Given the description of an element on the screen output the (x, y) to click on. 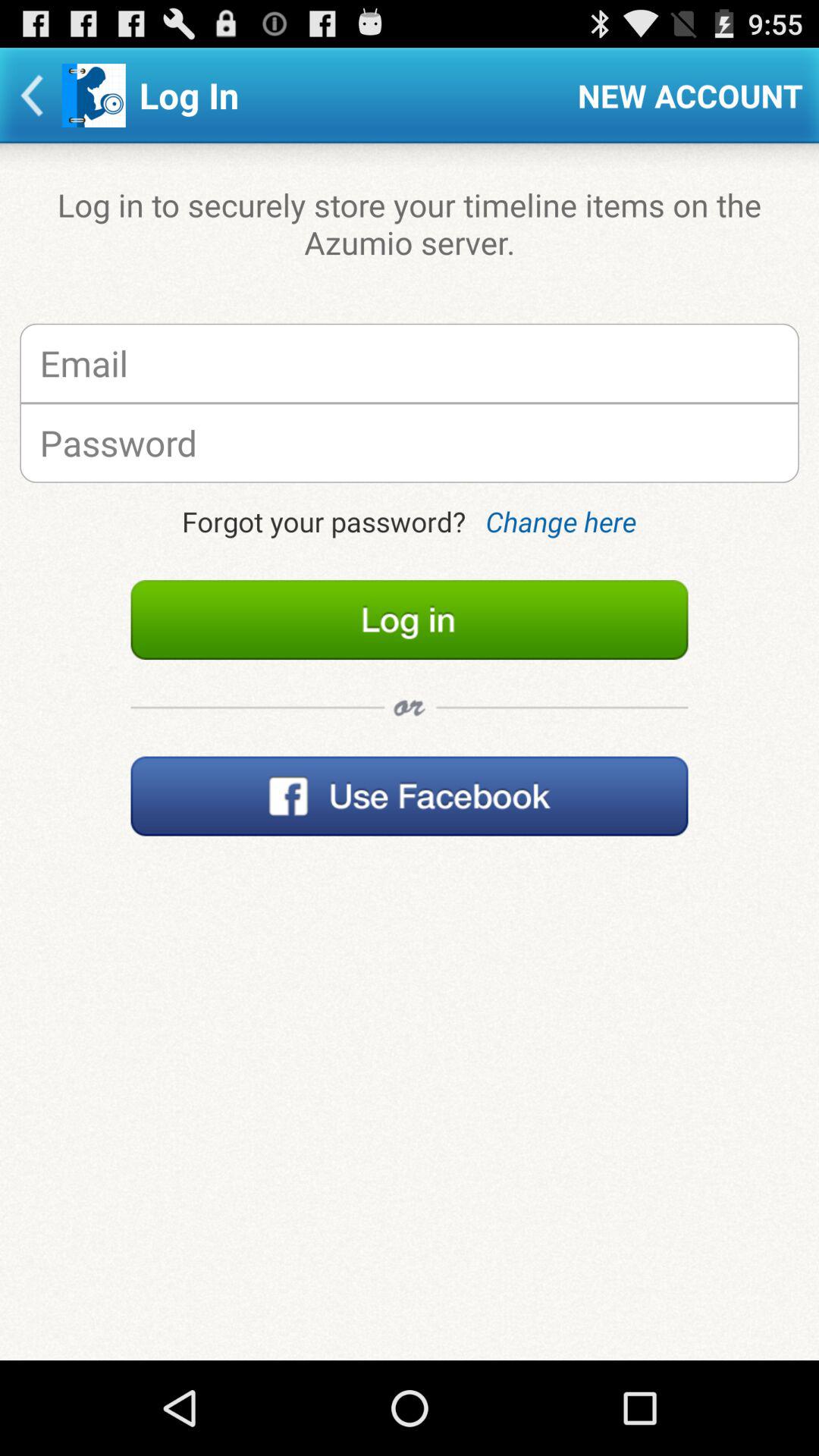
turn on change here on the right (560, 521)
